Given the description of an element on the screen output the (x, y) to click on. 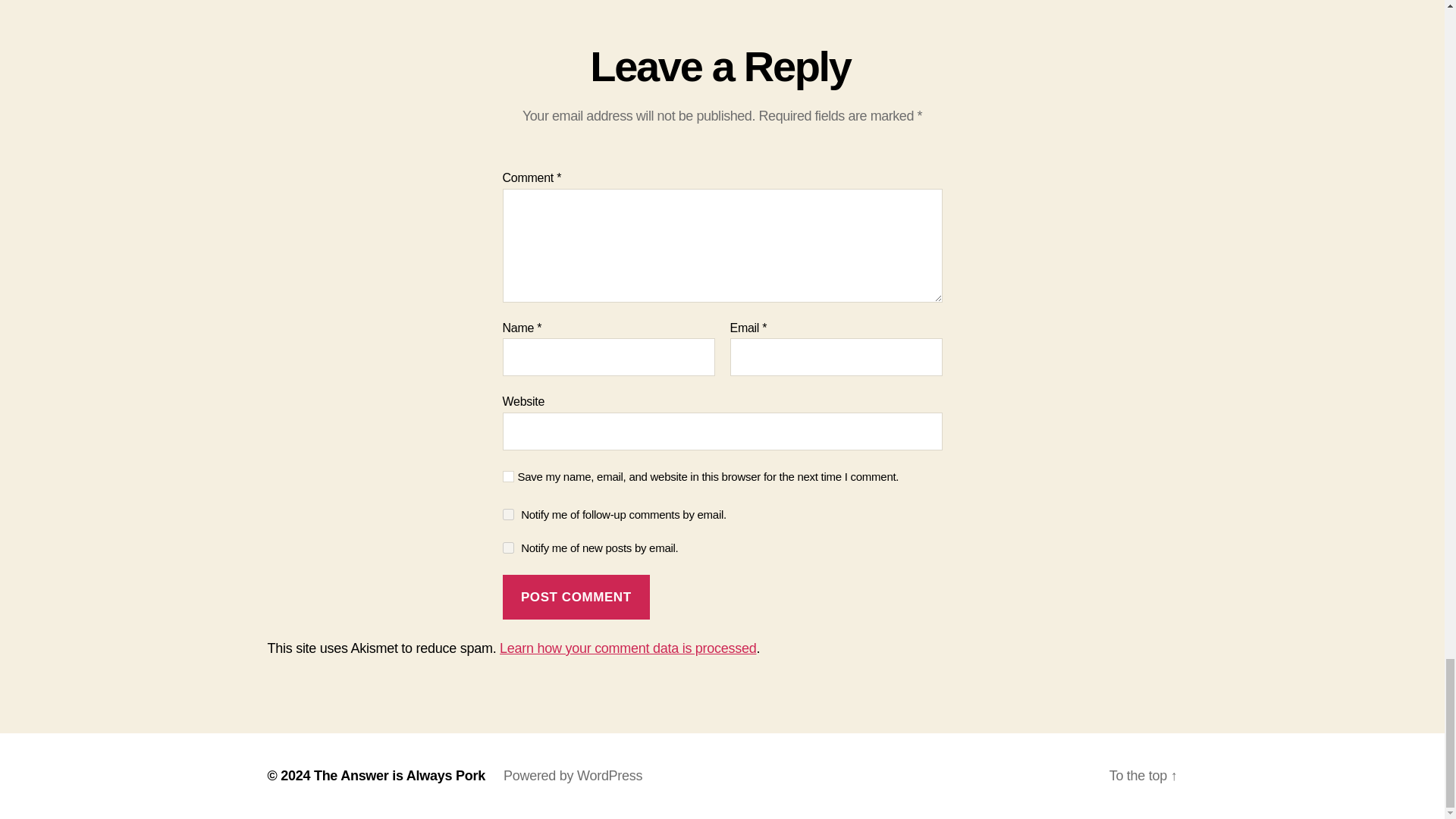
subscribe (507, 513)
subscribe (507, 547)
Post Comment (575, 596)
yes (507, 476)
